Given the description of an element on the screen output the (x, y) to click on. 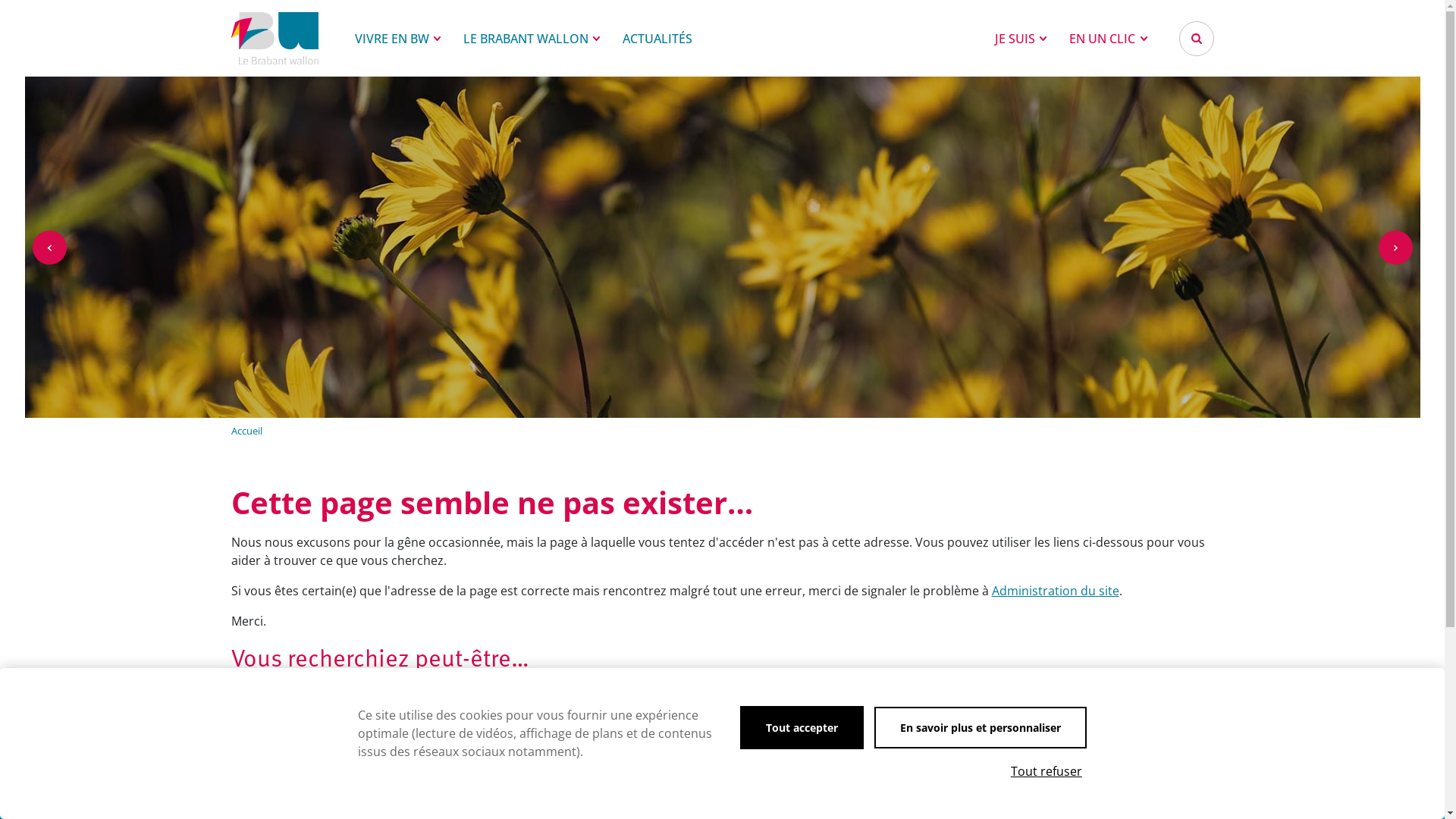
LE BRABANT WALLON Element type: text (531, 38)
En savoir plus et personnaliser Element type: text (980, 727)
Rechercher Element type: text (1195, 38)
Tout refuser Element type: text (1046, 771)
JE SUIS Element type: text (1020, 38)
Accueil Element type: text (245, 430)
Le Brabant wallon Element type: hover (273, 38)
Brochure Maladies et ravageurs de plantes Element type: text (353, 685)
Tout accepter Element type: text (801, 727)
EN UN CLIC Element type: text (1107, 38)
Administration du site Element type: text (1055, 590)
VIVRE EN BW Element type: text (397, 38)
